Given the description of an element on the screen output the (x, y) to click on. 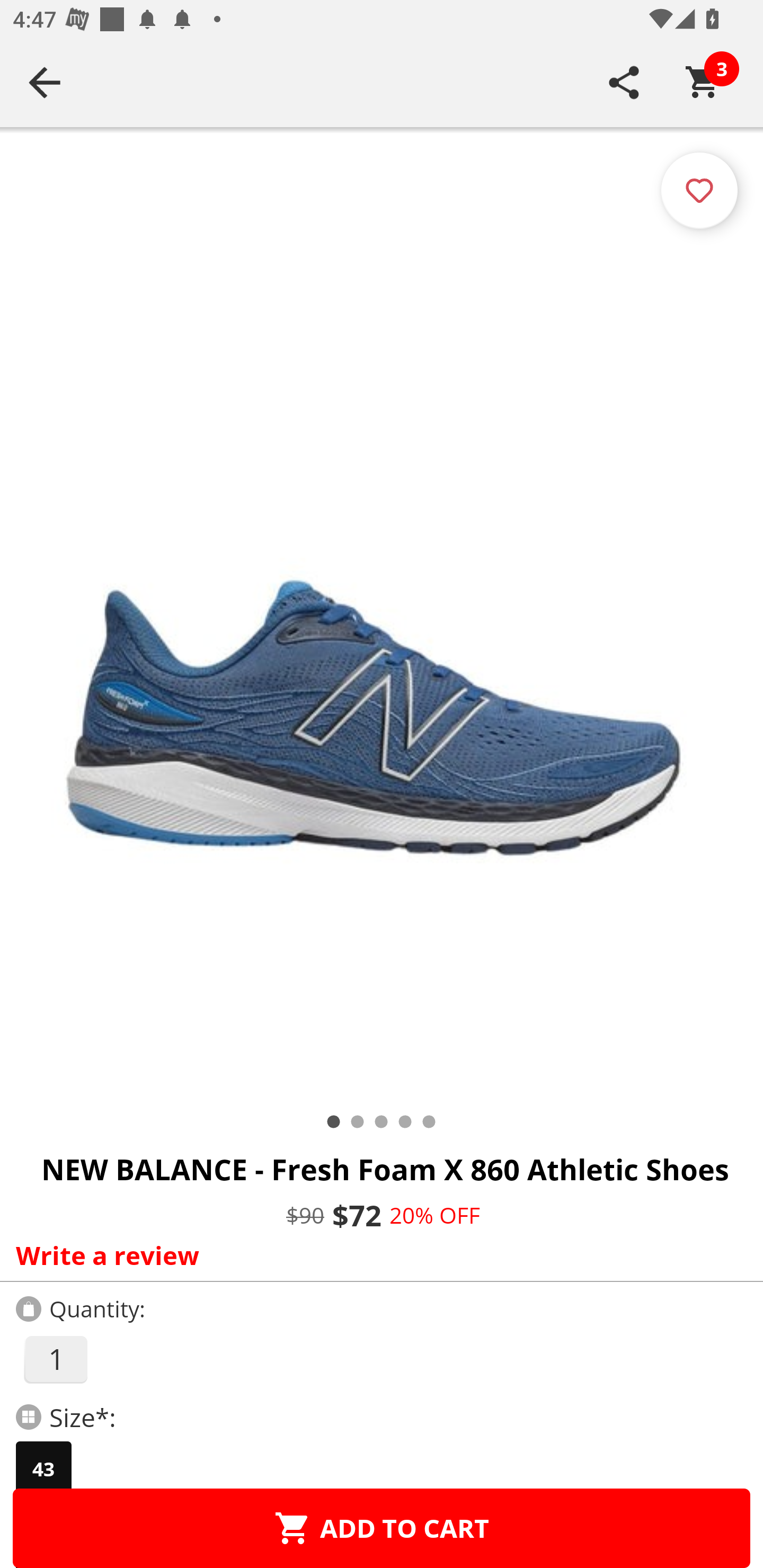
Navigate up (44, 82)
SHARE (623, 82)
Cart (703, 81)
Write a review (377, 1255)
1 (55, 1358)
43 (43, 1468)
ADD TO CART (381, 1528)
